Given the description of an element on the screen output the (x, y) to click on. 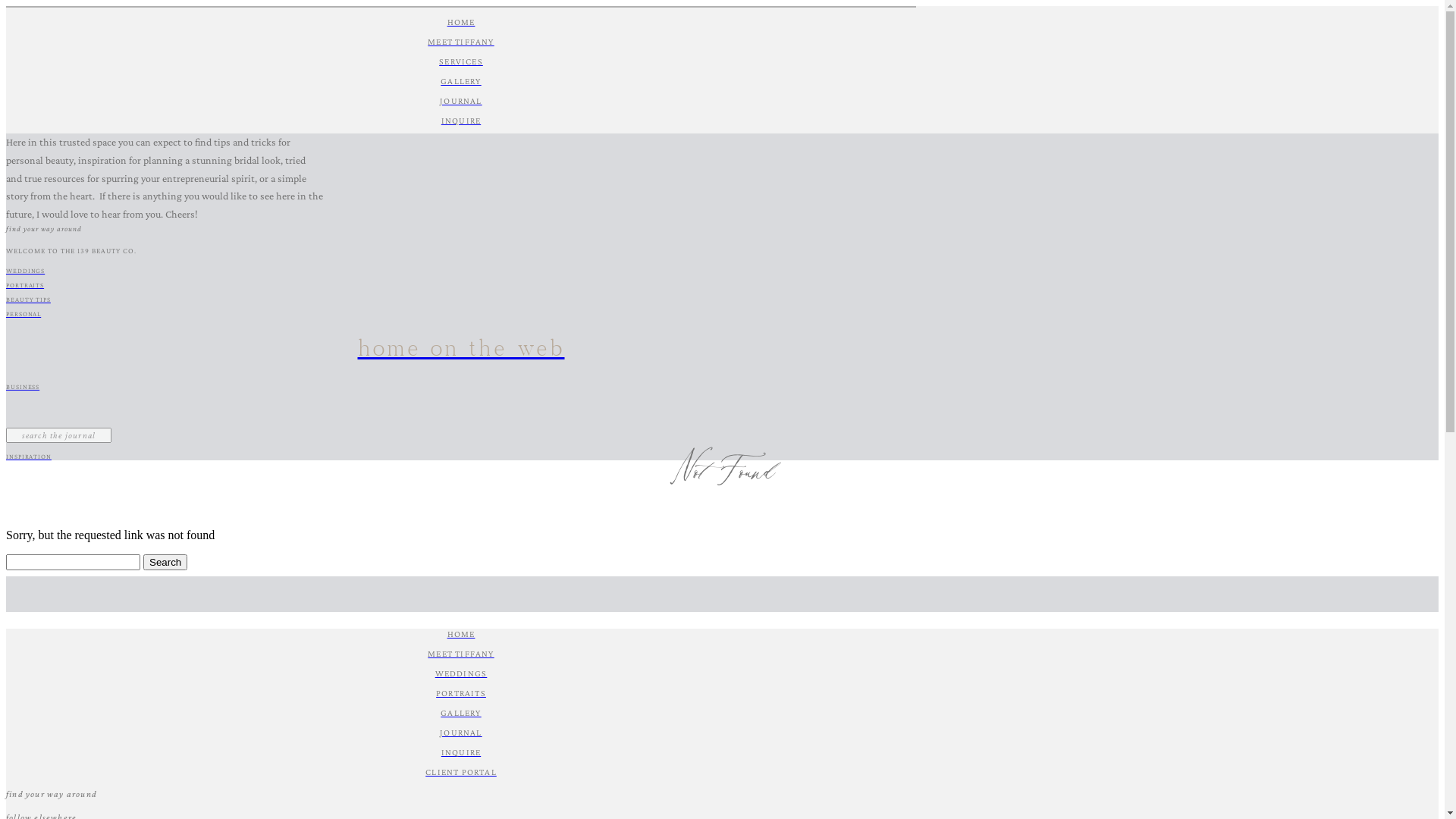
MEET TIFFANY Element type: text (461, 653)
PORTRAITS Element type: text (461, 284)
PERSONAL Element type: text (461, 313)
WEDDINGS Element type: text (461, 270)
home on the web Element type: text (461, 350)
HOME Element type: text (461, 21)
INQUIRE Element type: text (461, 120)
GALLERY Element type: text (461, 80)
CLIENT PORTAL Element type: text (461, 771)
MEET TIFFANY Element type: text (461, 41)
SERVICES Element type: text (461, 61)
JOURNAL Element type: text (461, 732)
BUSINESS Element type: text (461, 386)
GALLERY Element type: text (461, 712)
WEDDINGS Element type: text (461, 673)
BEAUTY TIPS Element type: text (461, 299)
JOURNAL Element type: text (461, 100)
Search Element type: text (165, 562)
PORTRAITS Element type: text (461, 692)
HOME Element type: text (461, 633)
INSPIRATION Element type: text (461, 456)
INQUIRE Element type: text (461, 751)
